Given the description of an element on the screen output the (x, y) to click on. 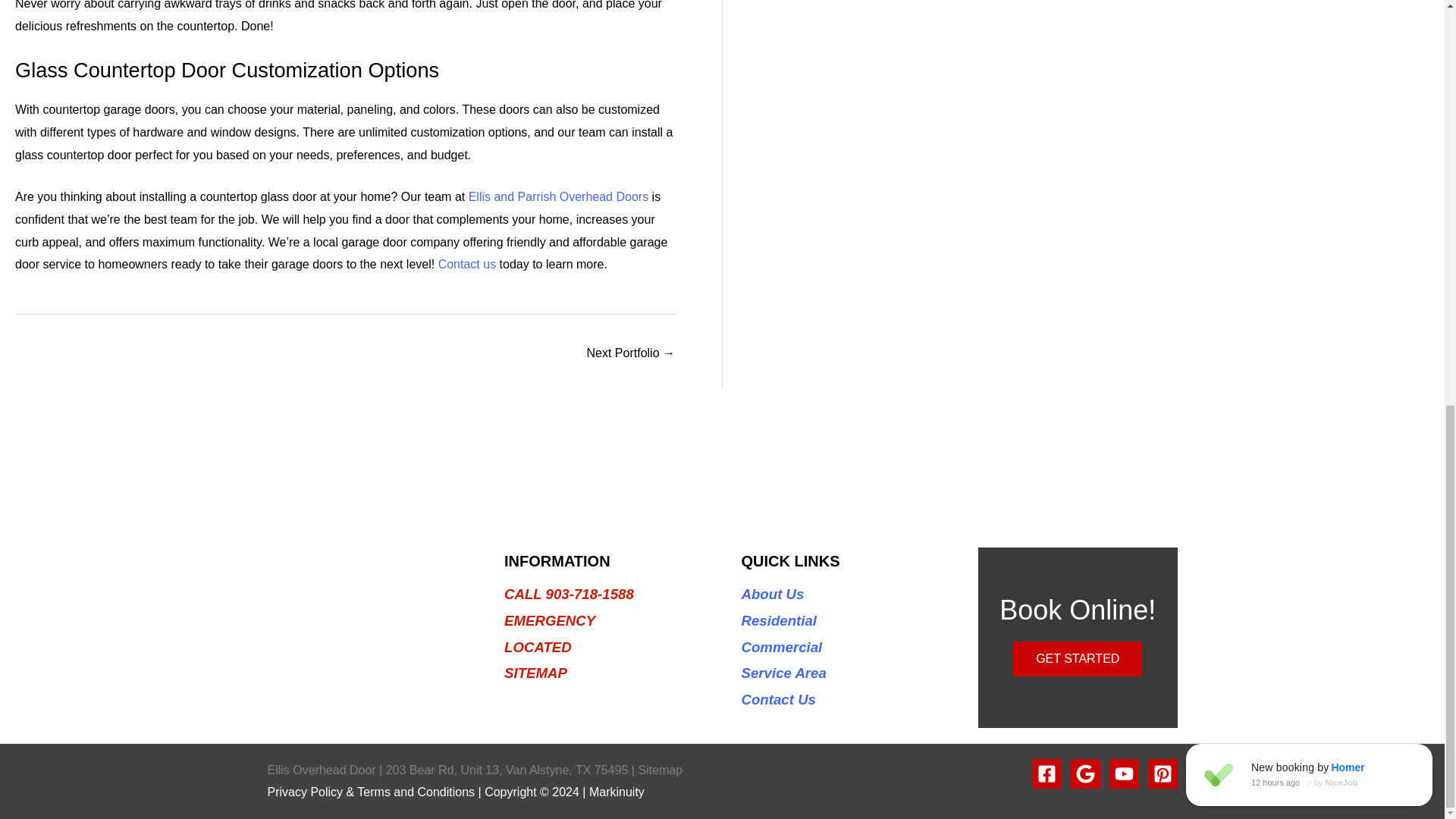
Gray Garage Door (630, 354)
